Given the description of an element on the screen output the (x, y) to click on. 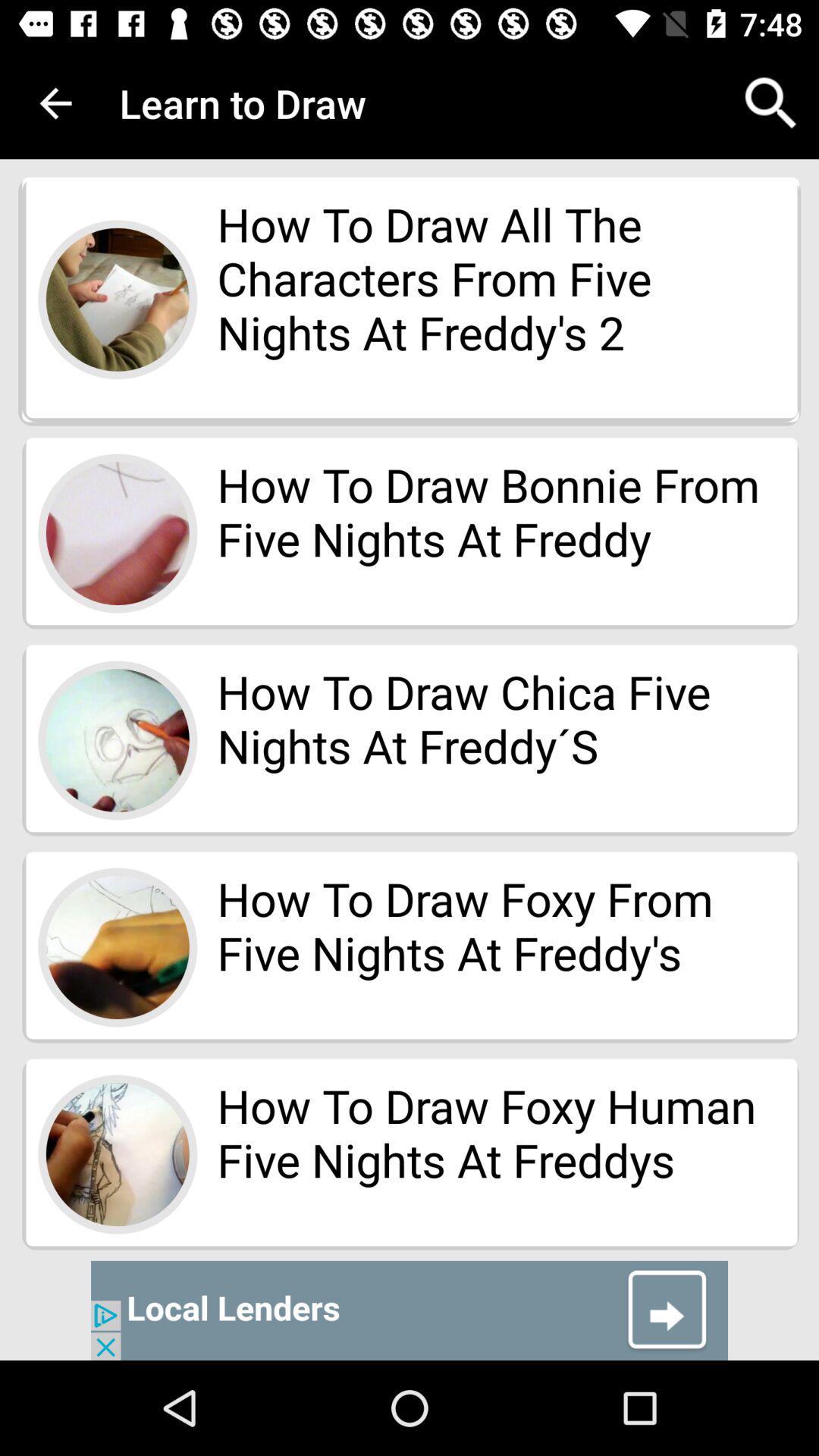
open advertisement (409, 1310)
